Given the description of an element on the screen output the (x, y) to click on. 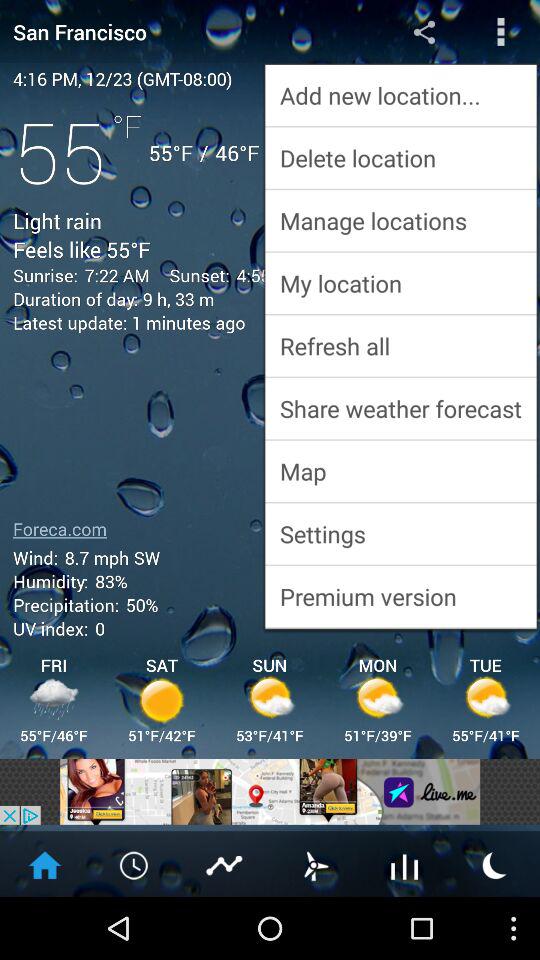
flip until the add new location... app (400, 94)
